Given the description of an element on the screen output the (x, y) to click on. 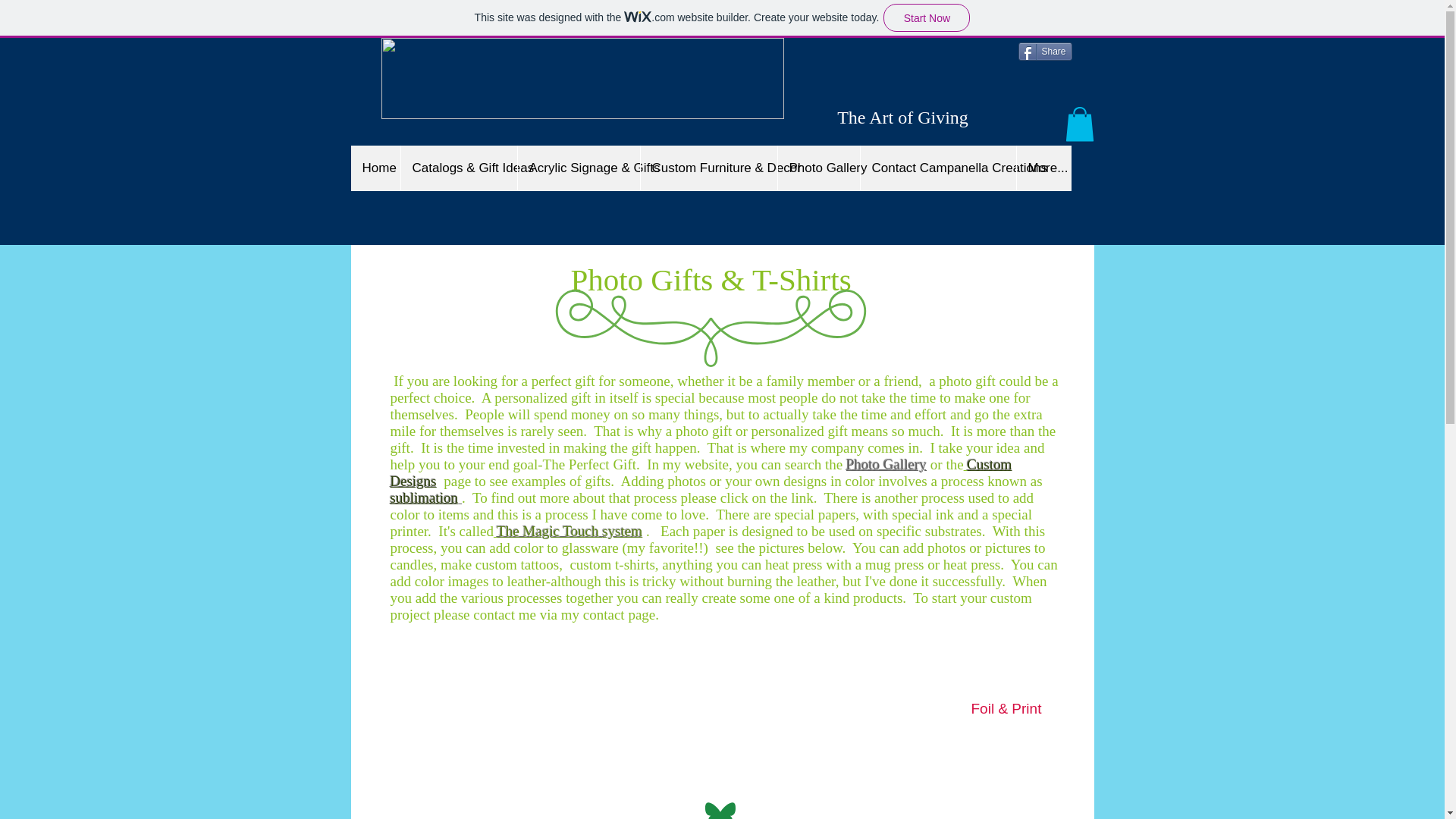
Photo Gallery (885, 464)
Home (374, 167)
Share (1044, 51)
sublimation (425, 497)
Custom Designs (700, 472)
The Magic Touch system (567, 530)
Photo Gallery (817, 167)
Share (1044, 51)
Pin to Pinterest (1043, 105)
Contact Campanella Creations (938, 167)
